Given the description of an element on the screen output the (x, y) to click on. 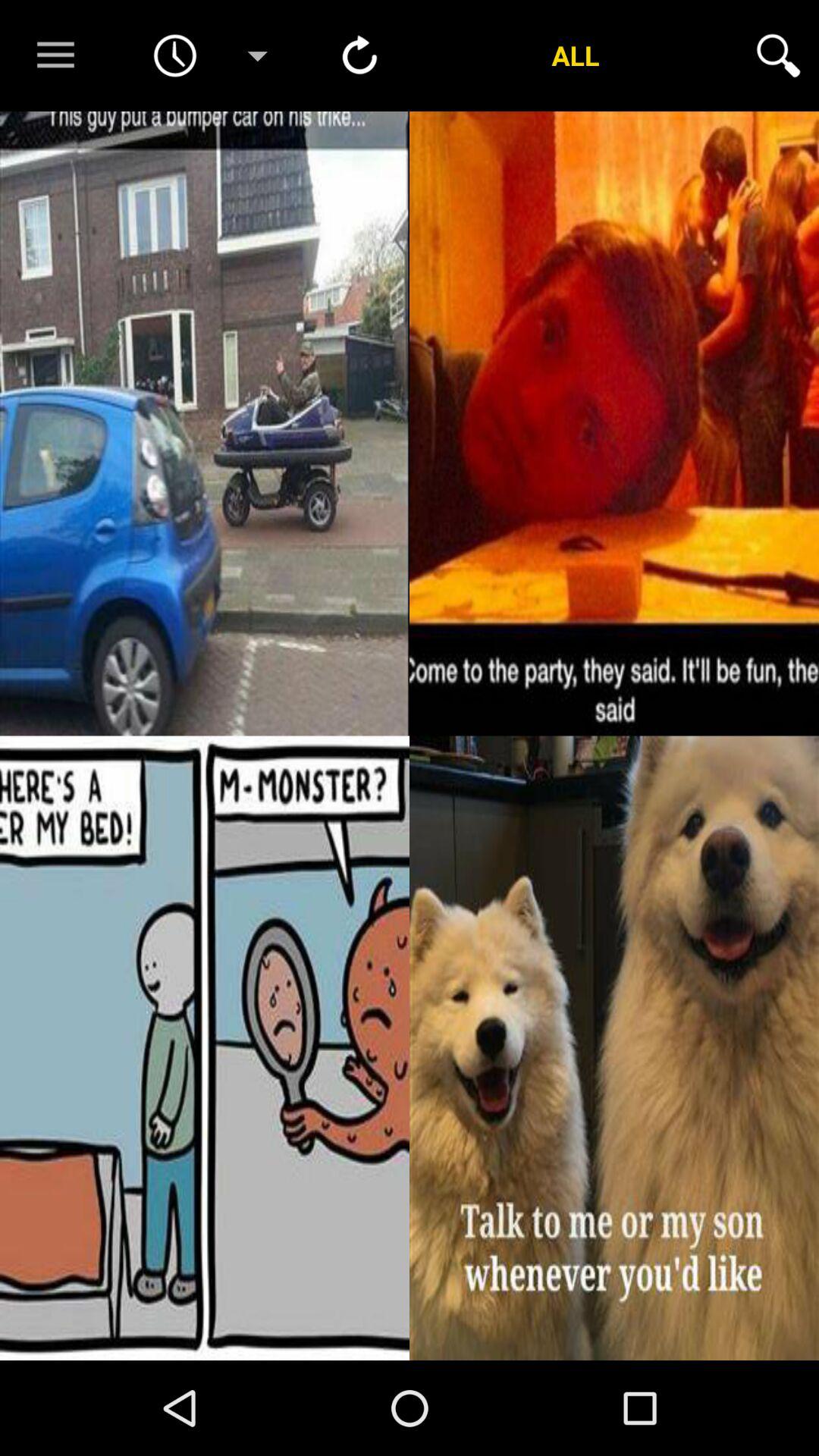
refresh page (359, 55)
